Given the description of an element on the screen output the (x, y) to click on. 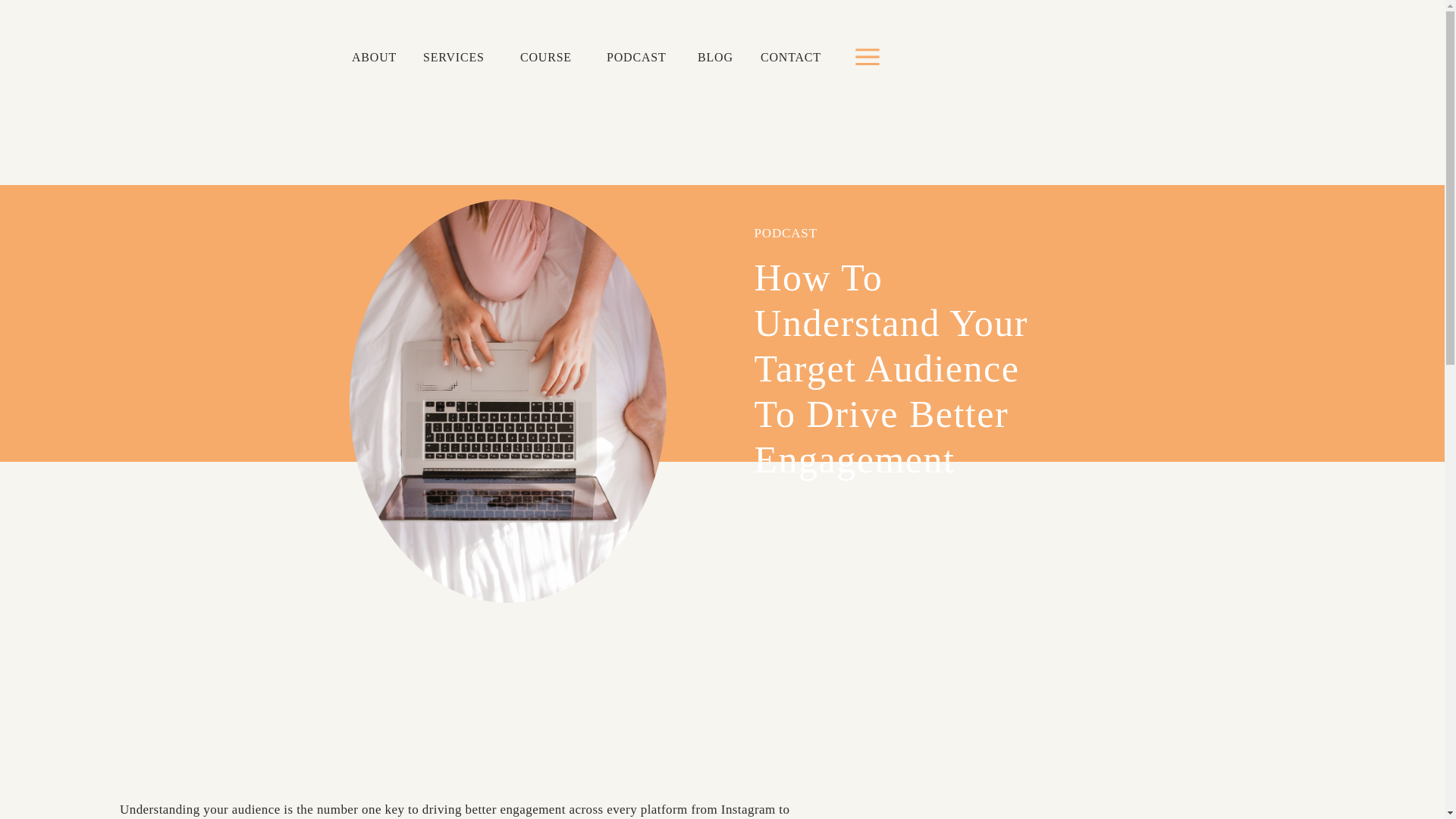
PODCAST (639, 58)
PODCAST (785, 233)
CONTACT (792, 58)
SERVICES (458, 58)
ABOUT (376, 58)
COURSE (549, 58)
BLOG (716, 58)
